Given the description of an element on the screen output the (x, y) to click on. 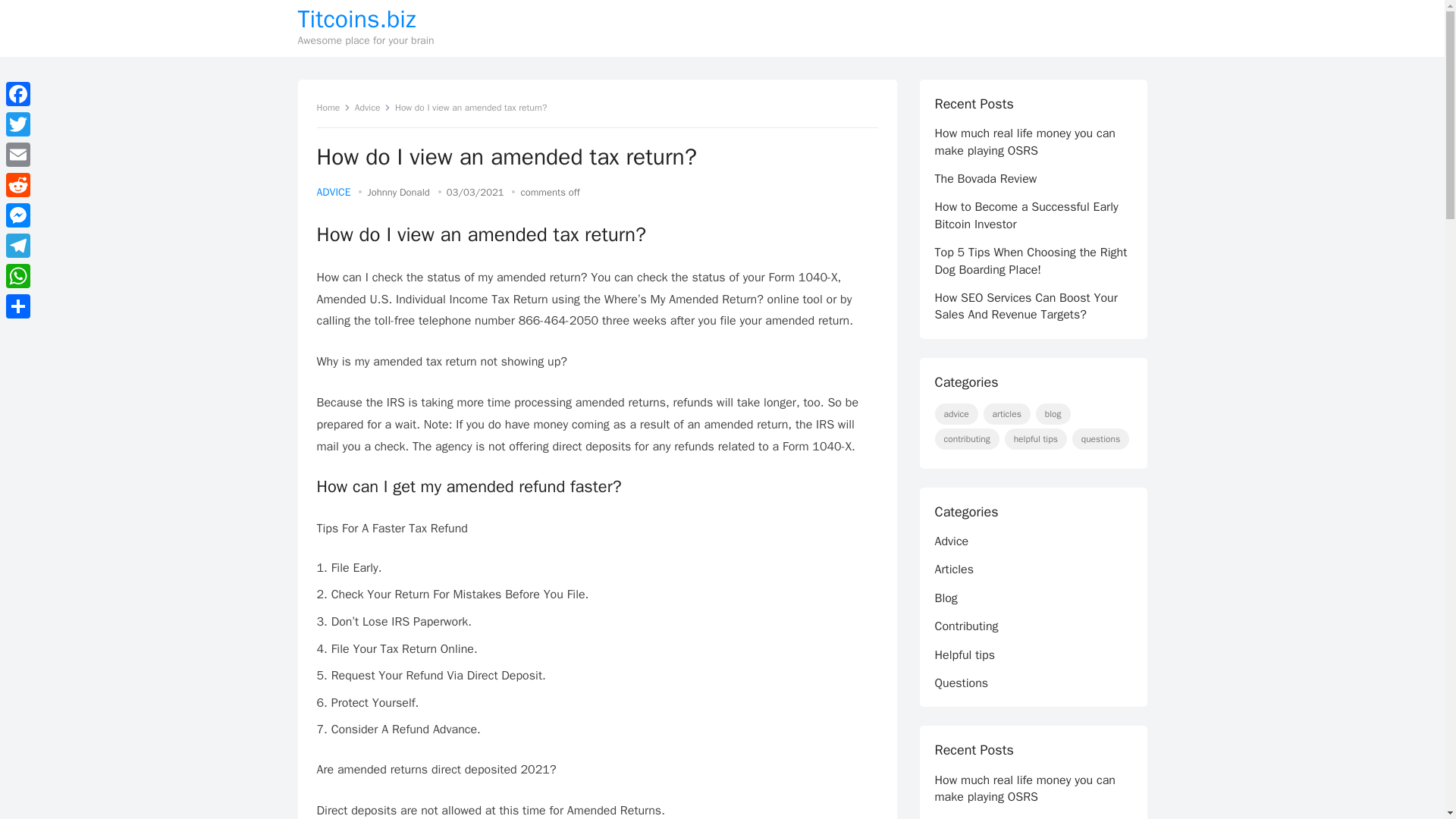
Top 5 Tips When Choosing the Right Dog Boarding Place! (1030, 260)
Posts by Johnny Donald (397, 192)
ADVICE (333, 192)
How SEO Services Can Boost Your Sales And Revenue Targets? (1025, 306)
Titcoins.biz (365, 19)
advice (955, 414)
Johnny Donald (397, 192)
How much real life money you can make playing OSRS (1024, 142)
The Bovada Review (985, 178)
articles (1007, 414)
Advice (373, 107)
How to Become a Successful Early Bitcoin Investor (1026, 214)
Home (333, 107)
Facebook (17, 93)
